Given the description of an element on the screen output the (x, y) to click on. 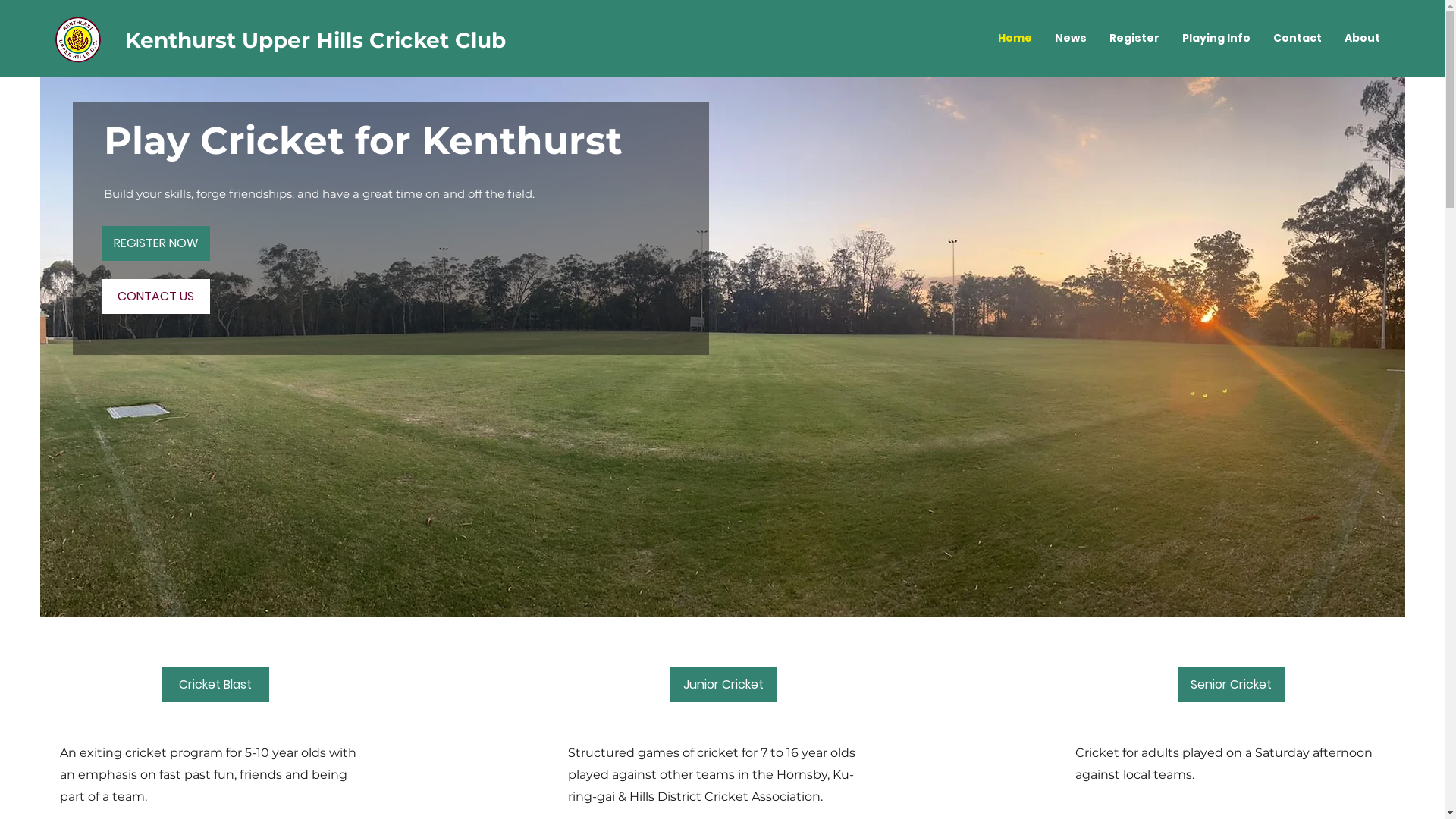
News Element type: text (1070, 37)
Cricket Blast Element type: text (215, 684)
Register Element type: text (1134, 37)
CONTACT US Element type: text (156, 296)
Senior Cricket Element type: text (1231, 684)
Kenthurst Upper Hills Cricket Club Element type: text (315, 40)
REGISTER NOW Element type: text (156, 242)
Home Element type: text (1013, 37)
Junior Cricket Element type: text (723, 684)
